Given the description of an element on the screen output the (x, y) to click on. 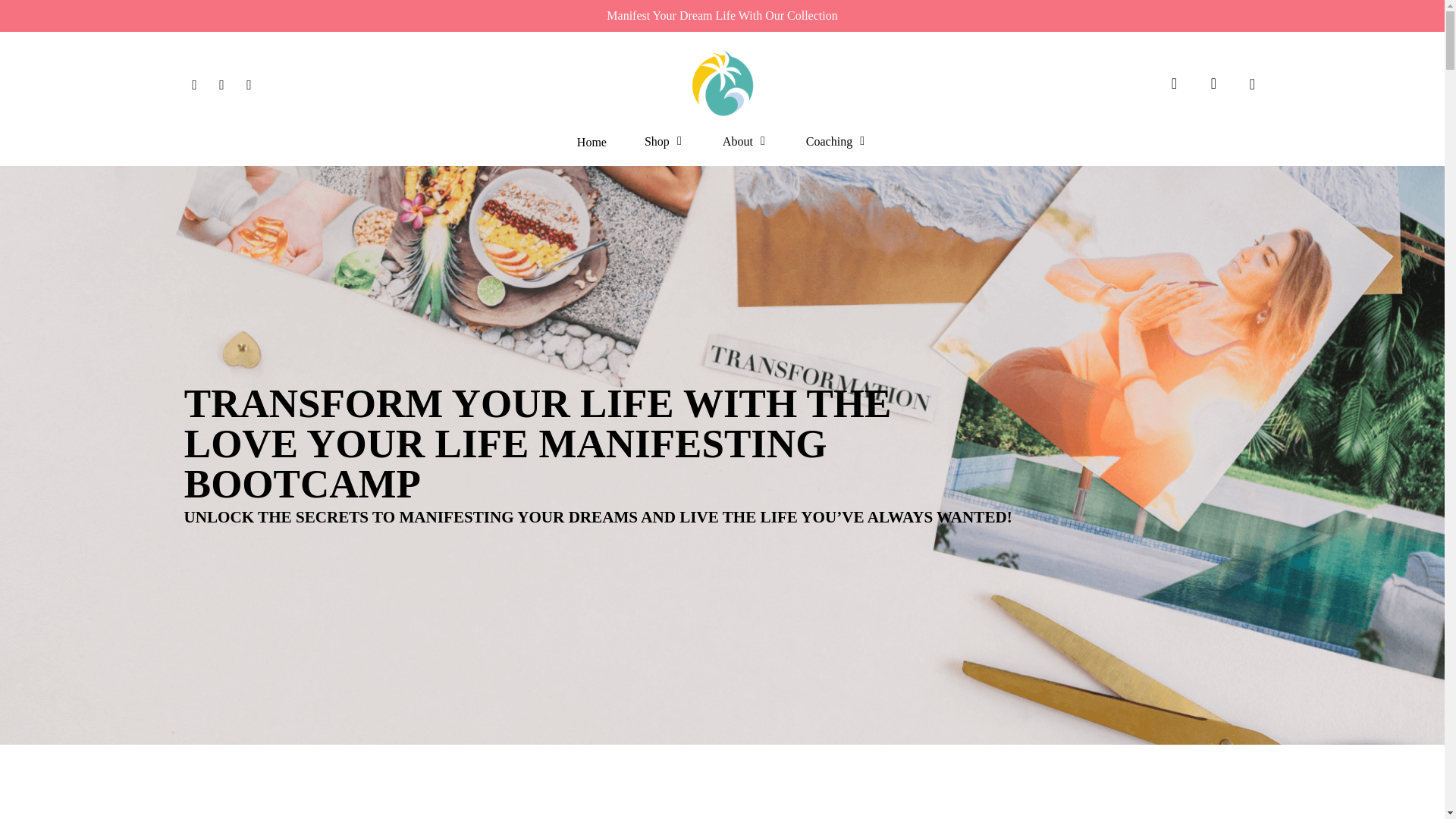
Home (591, 142)
Shop (664, 141)
Twitter (194, 83)
Facebook (221, 83)
account (1213, 83)
Manifest Your Dream Life With Our Collection (722, 15)
Google-Plus (248, 83)
search (1173, 83)
About (745, 141)
